Given the description of an element on the screen output the (x, y) to click on. 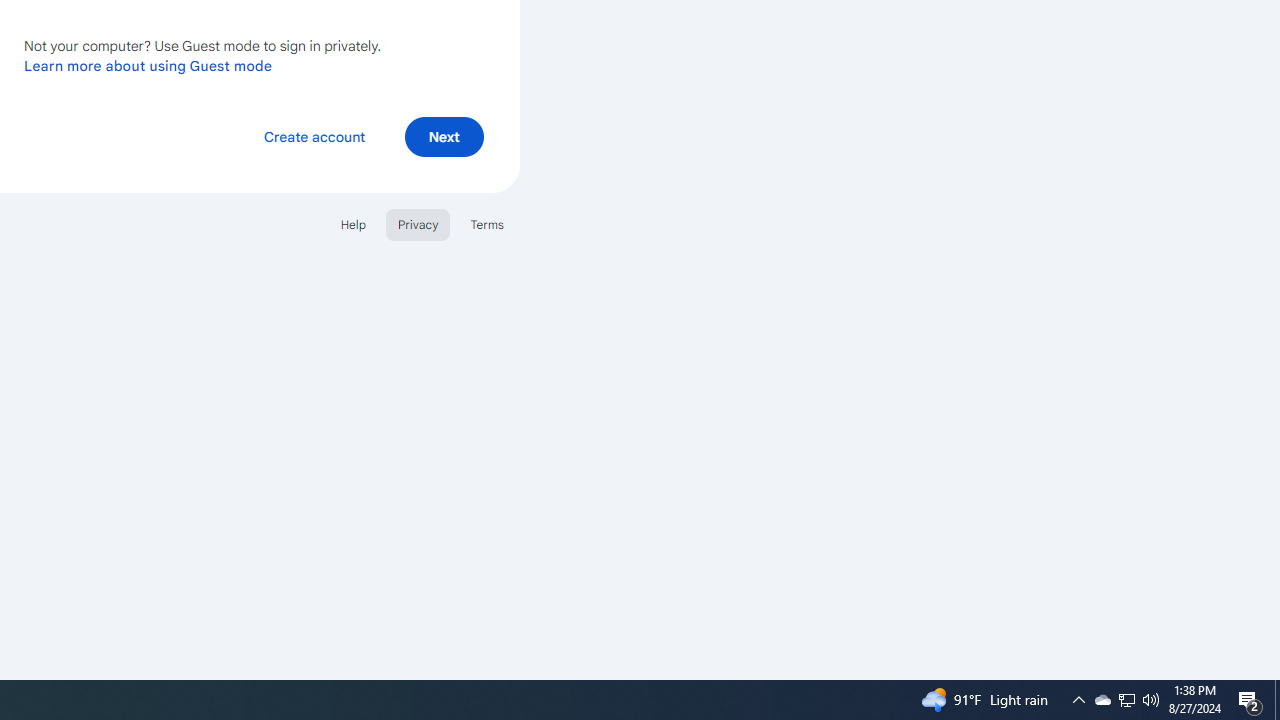
Create account (314, 135)
Learn more about using Guest mode (148, 65)
